Given the description of an element on the screen output the (x, y) to click on. 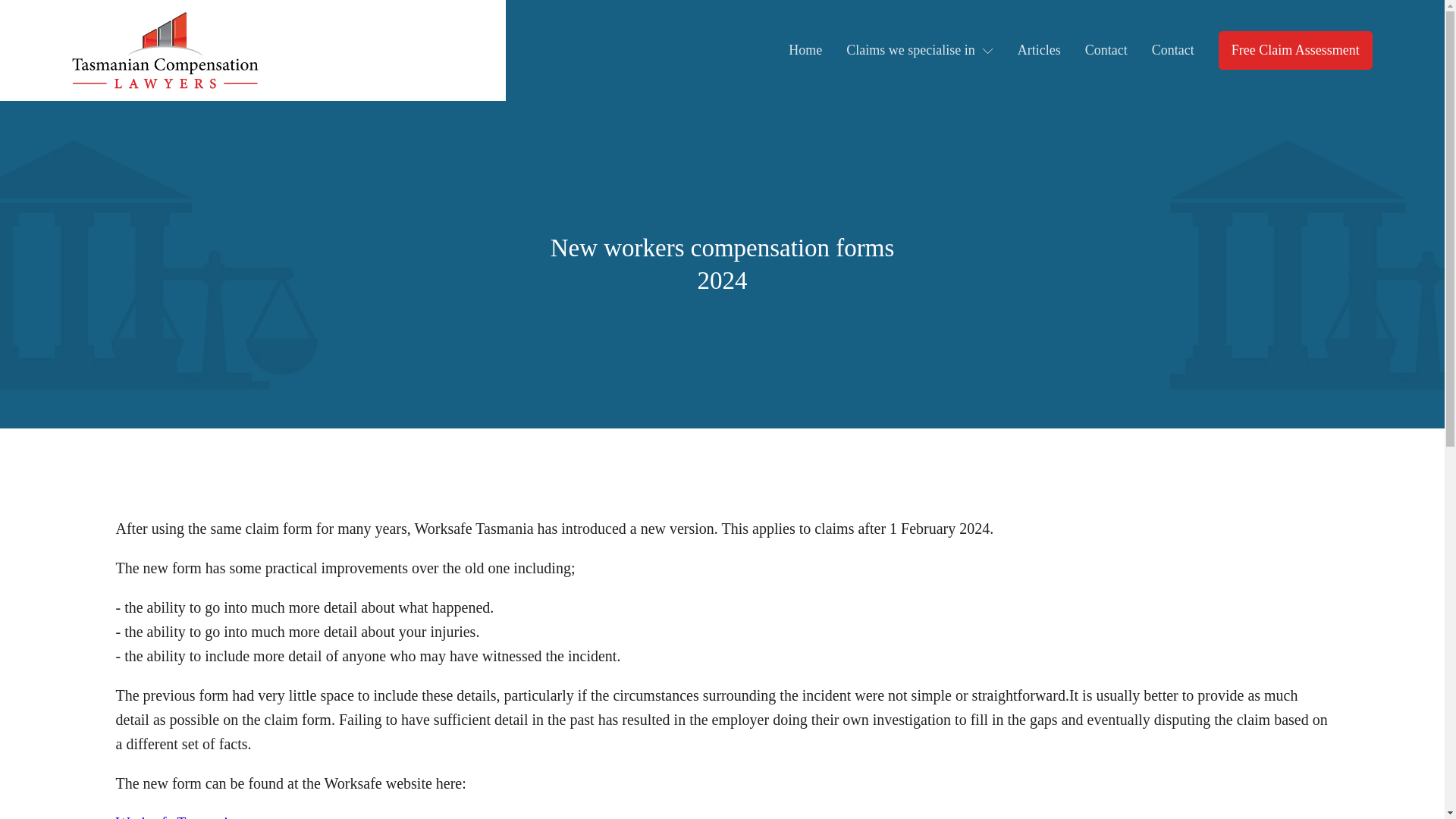
Contact (1106, 50)
Home (805, 50)
Articles (1039, 50)
Claims we specialise in (919, 50)
Worksafe Tasmania (174, 816)
Contact (1172, 50)
Free Claim Assessment (1295, 50)
